Given the description of an element on the screen output the (x, y) to click on. 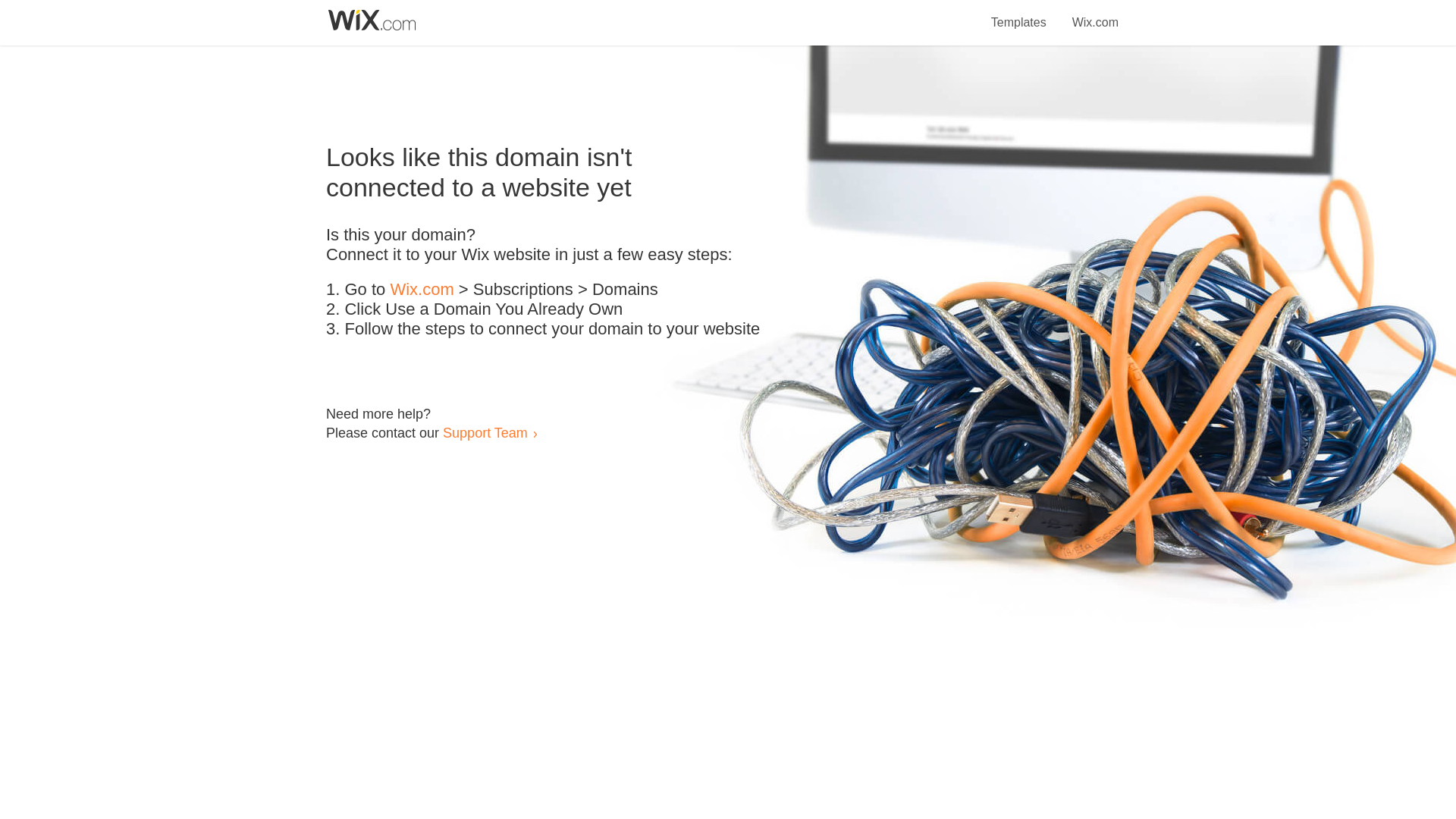
Wix.com (1095, 14)
Wix.com (421, 289)
Support Team (484, 432)
Templates (1018, 14)
